Given the description of an element on the screen output the (x, y) to click on. 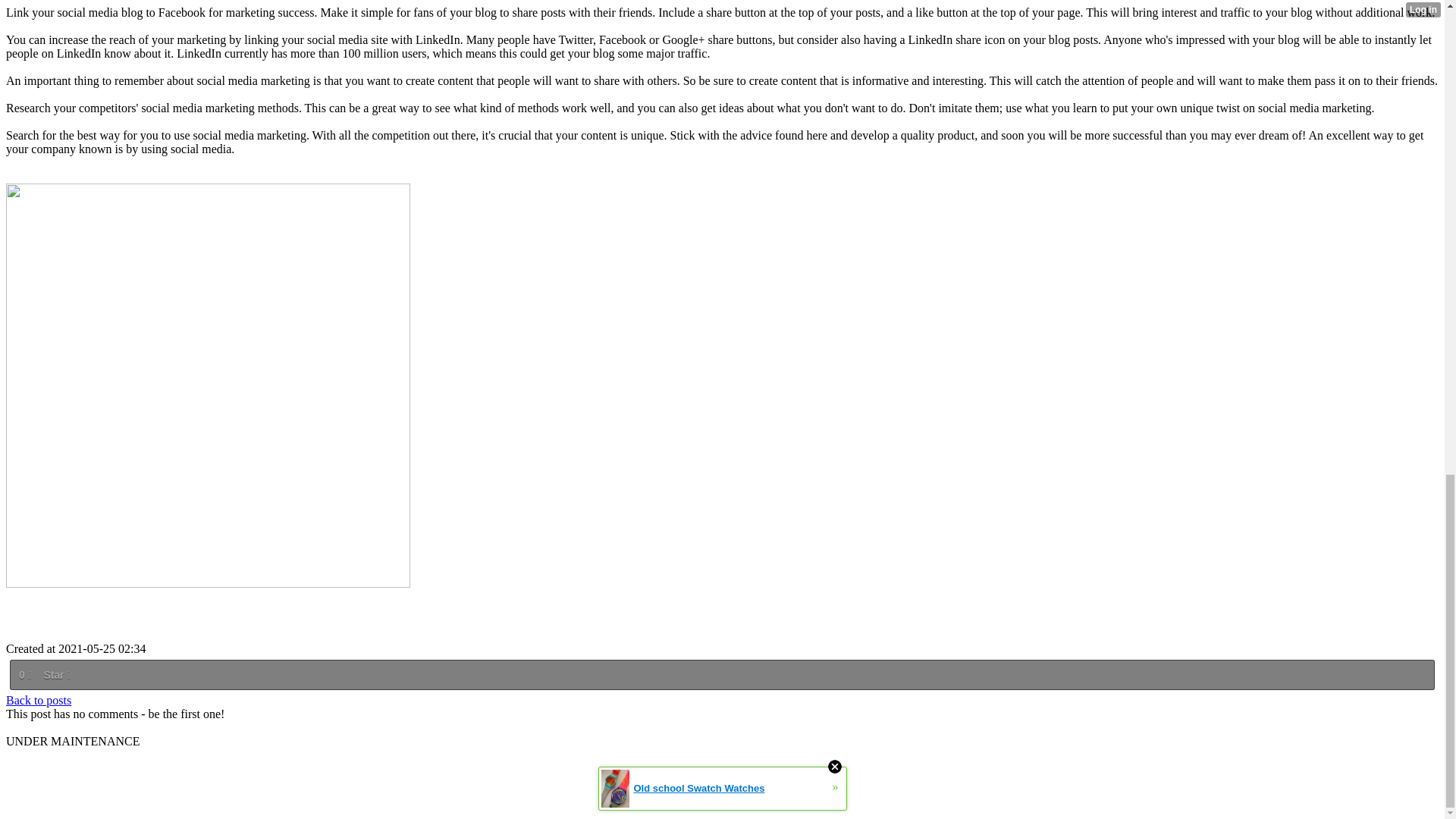
0 (24, 674)
Back to posts (38, 699)
Star (56, 674)
